Given the description of an element on the screen output the (x, y) to click on. 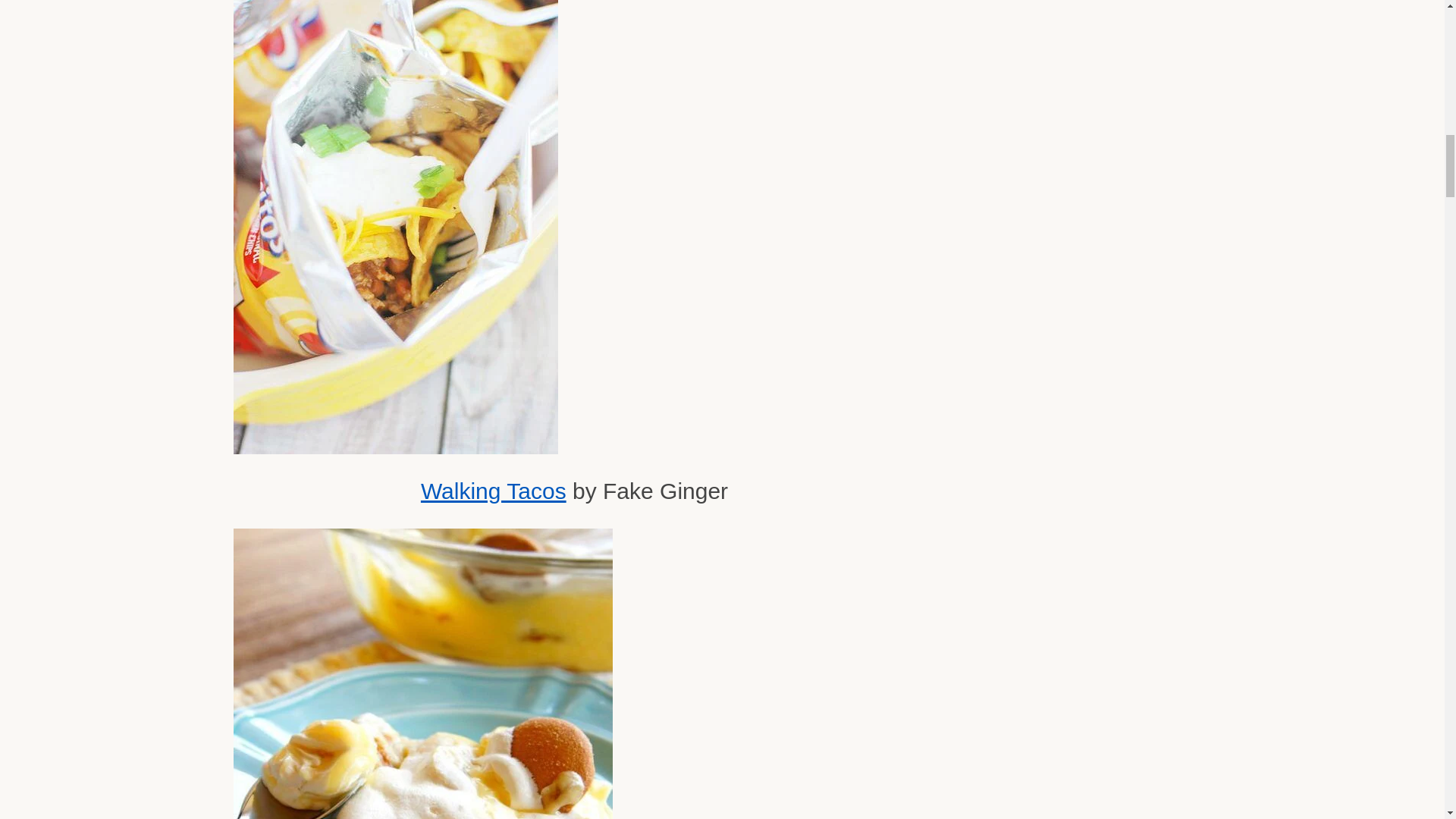
Walking Tacos (493, 490)
